Given the description of an element on the screen output the (x, y) to click on. 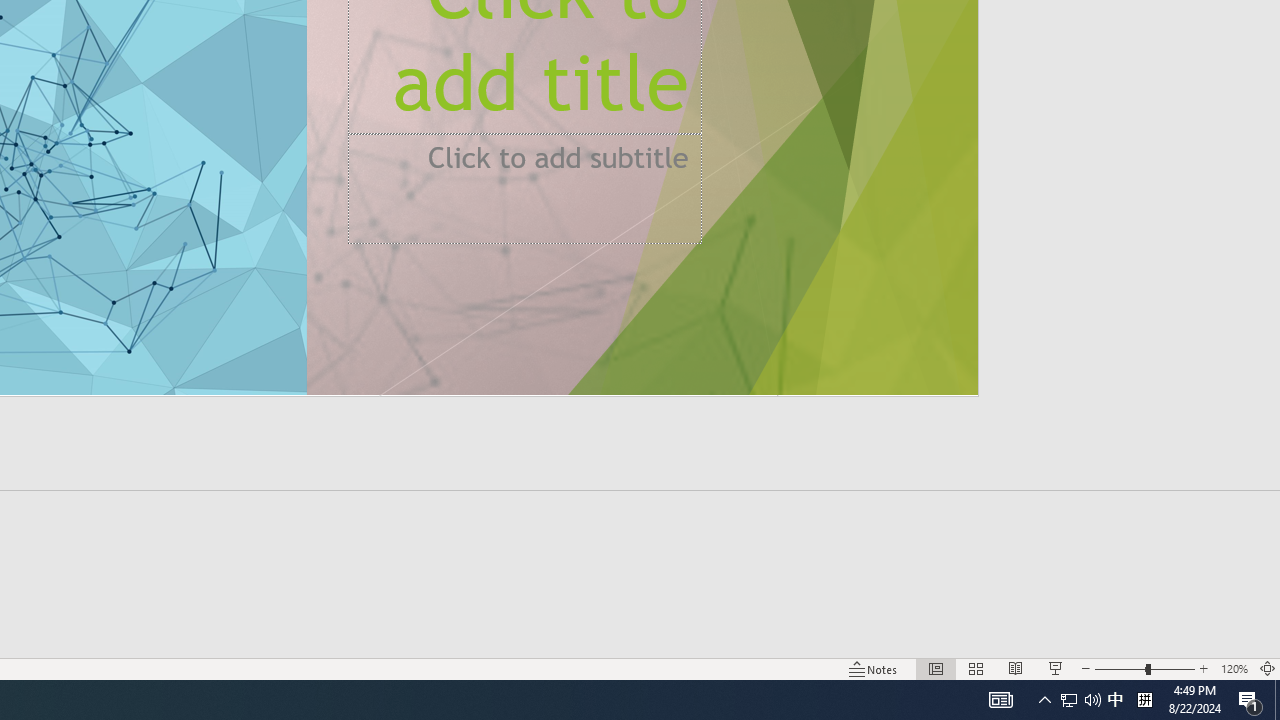
Zoom 120% (1234, 668)
